Given the description of an element on the screen output the (x, y) to click on. 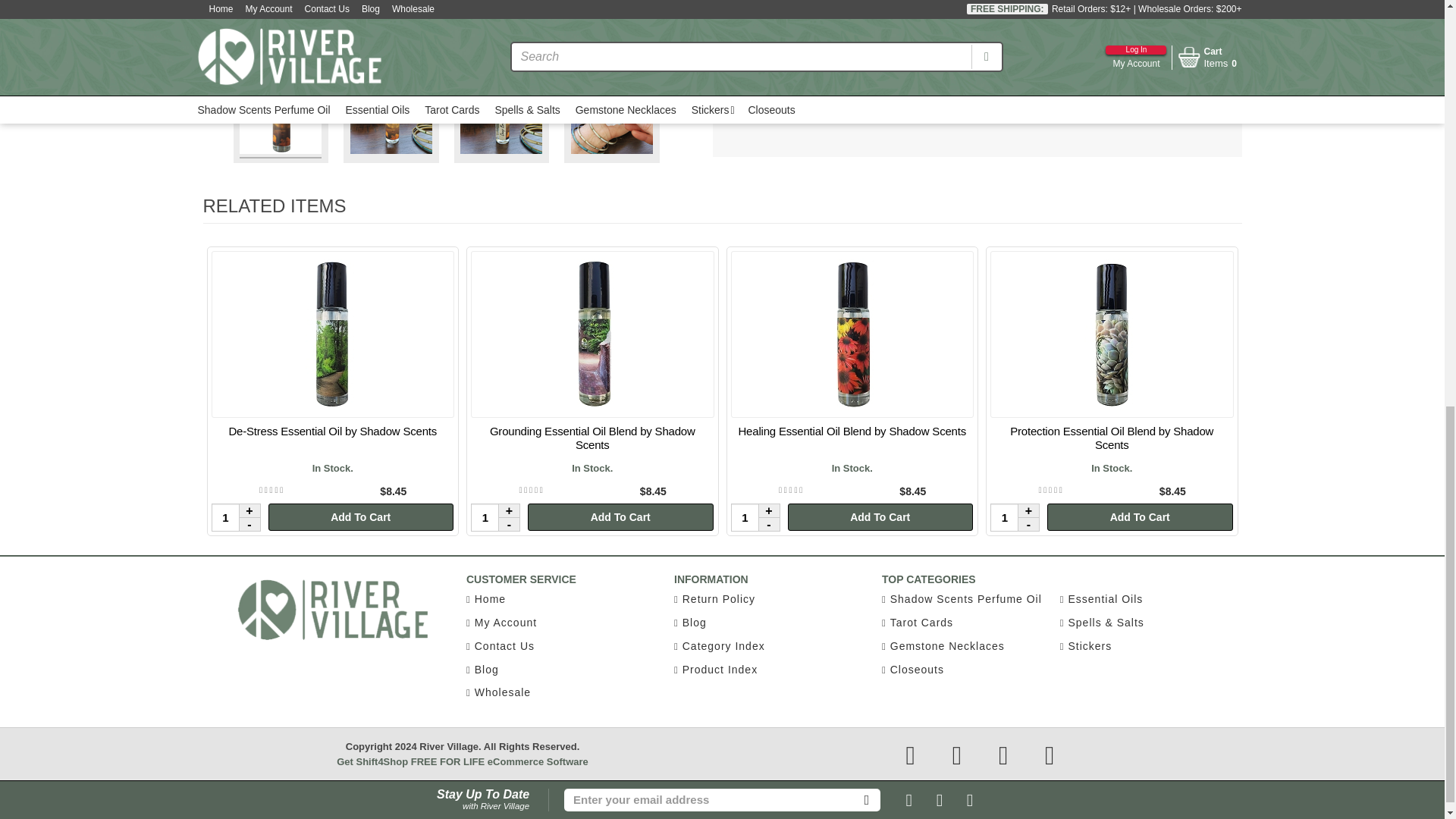
1 (235, 517)
1 (1014, 517)
1 (755, 517)
1 (494, 517)
